Given the description of an element on the screen output the (x, y) to click on. 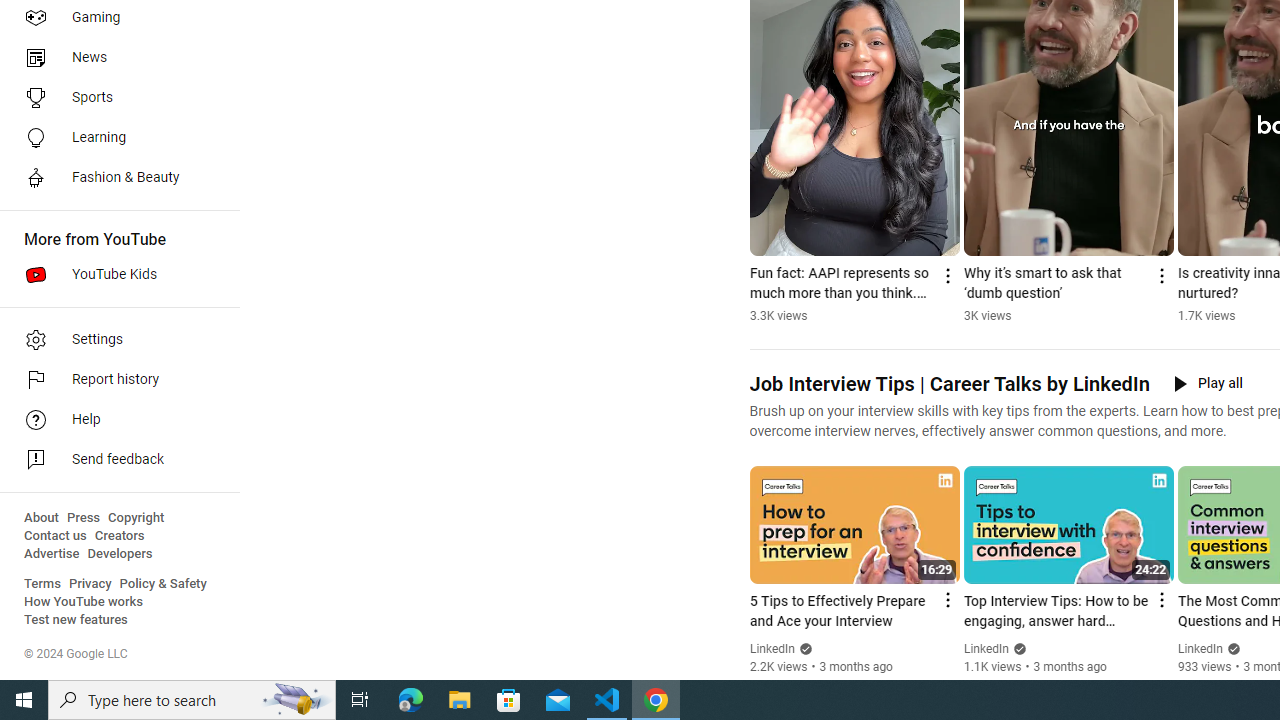
Copyright (136, 518)
Terms (42, 584)
About (41, 518)
Advertise (51, 554)
Sports (113, 97)
News (113, 57)
Learning (113, 137)
Creators (118, 536)
More actions (1160, 276)
Test new features (76, 620)
Job Interview Tips | Career Talks by LinkedIn (948, 384)
YouTube Kids (113, 274)
Action menu (1160, 600)
